Given the description of an element on the screen output the (x, y) to click on. 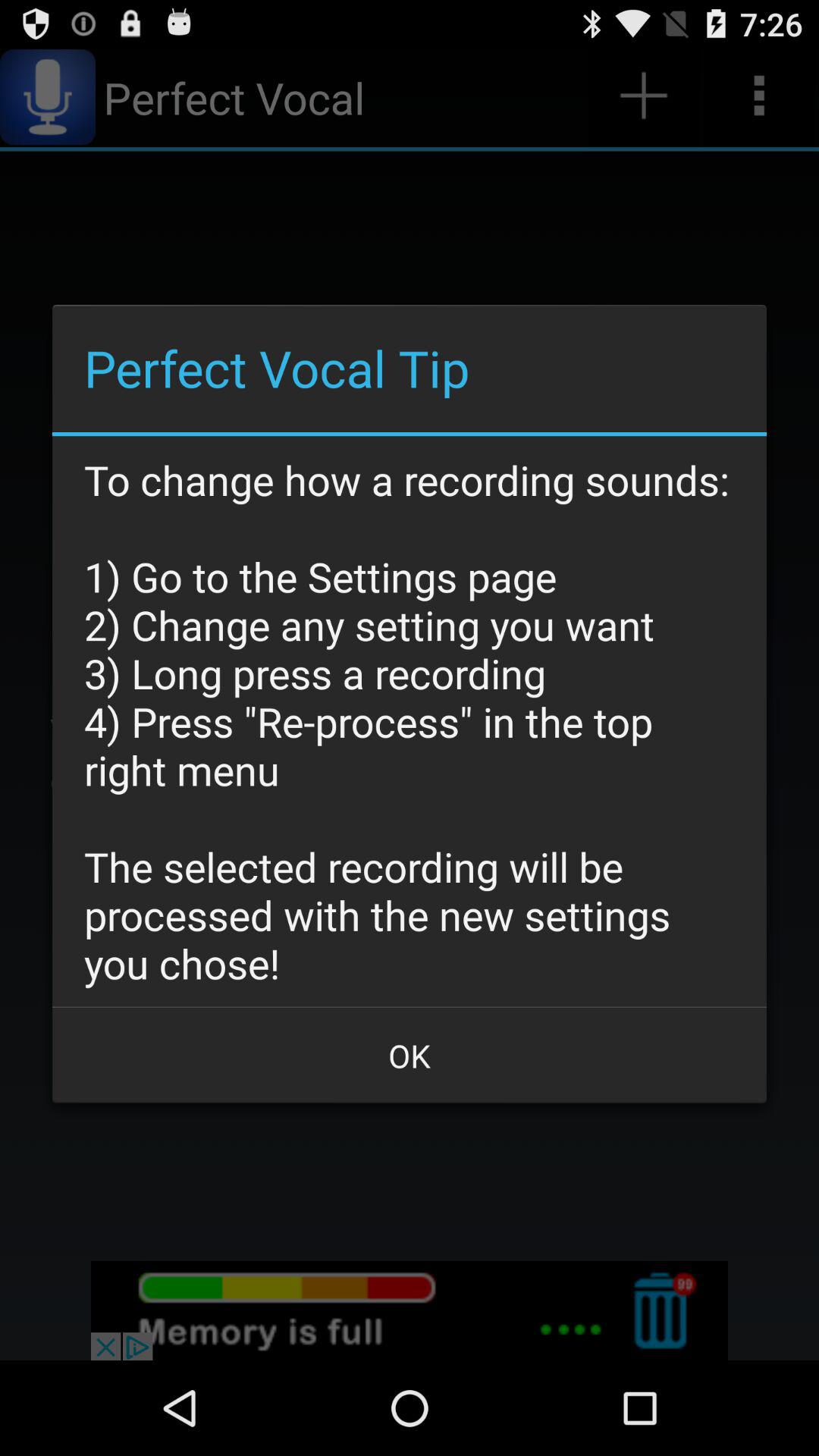
press the item below the to change how (409, 1055)
